Given the description of an element on the screen output the (x, y) to click on. 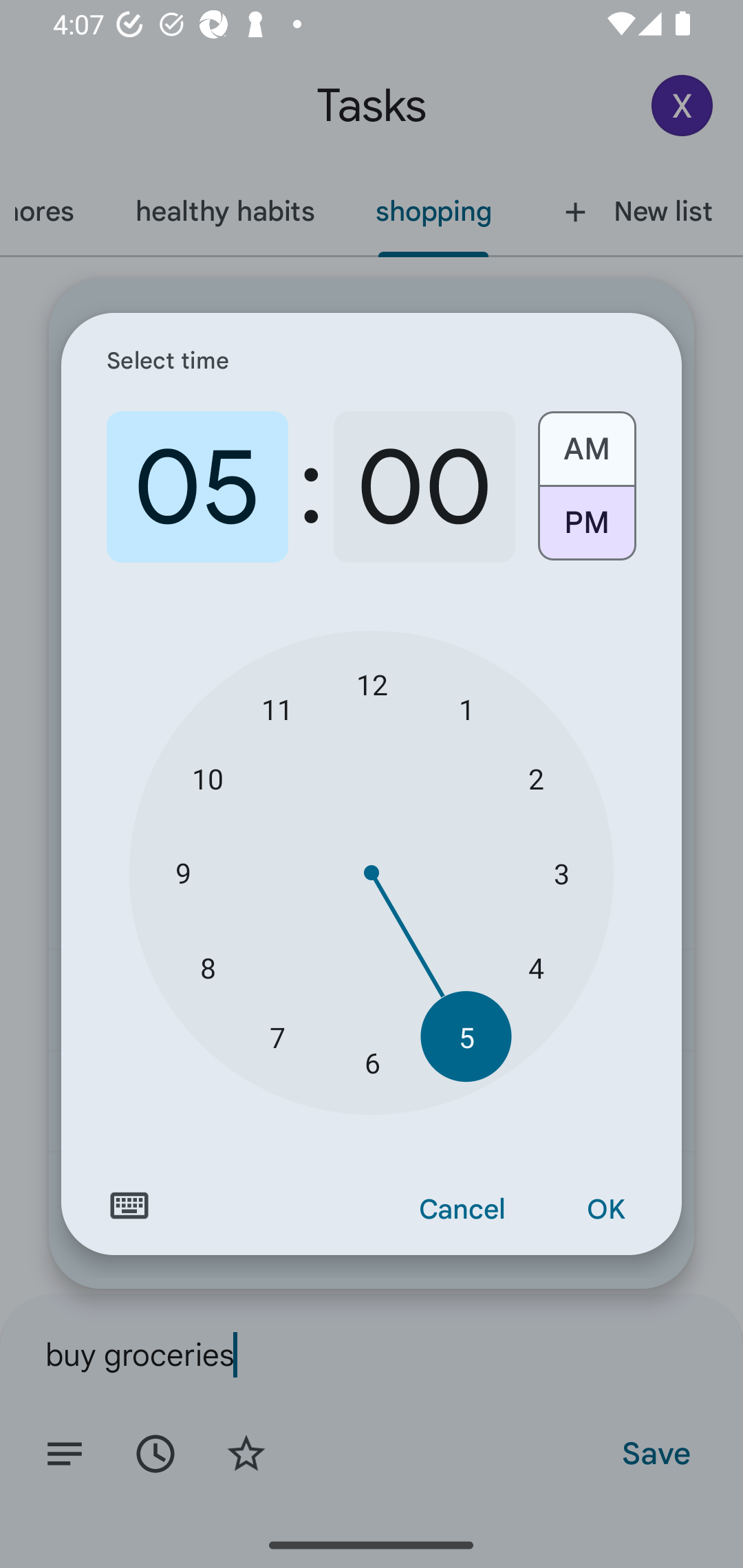
AM (586, 441)
05 5 o'clock (197, 486)
00 0 minutes (424, 486)
PM (586, 529)
12 12 o'clock (371, 683)
11 11 o'clock (276, 708)
1 1 o'clock (466, 708)
10 10 o'clock (207, 778)
2 2 o'clock (535, 778)
9 9 o'clock (182, 872)
3 3 o'clock (561, 872)
8 8 o'clock (207, 966)
4 4 o'clock (535, 966)
7 7 o'clock (276, 1035)
5 5 o'clock (466, 1035)
6 6 o'clock (371, 1062)
Switch to text input mode for the time input. (128, 1205)
Cancel (462, 1209)
OK (605, 1209)
